Given the description of an element on the screen output the (x, y) to click on. 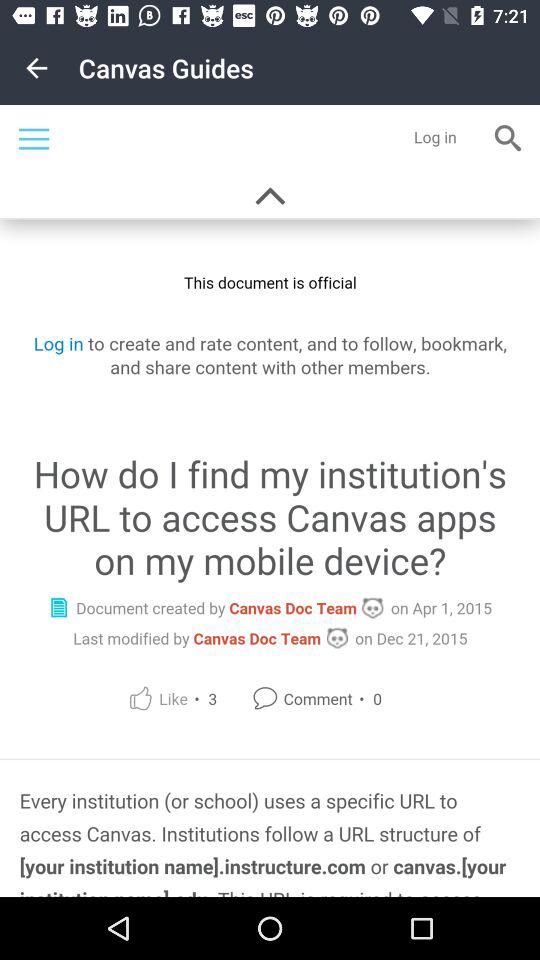
to go storage (270, 501)
